Given the description of an element on the screen output the (x, y) to click on. 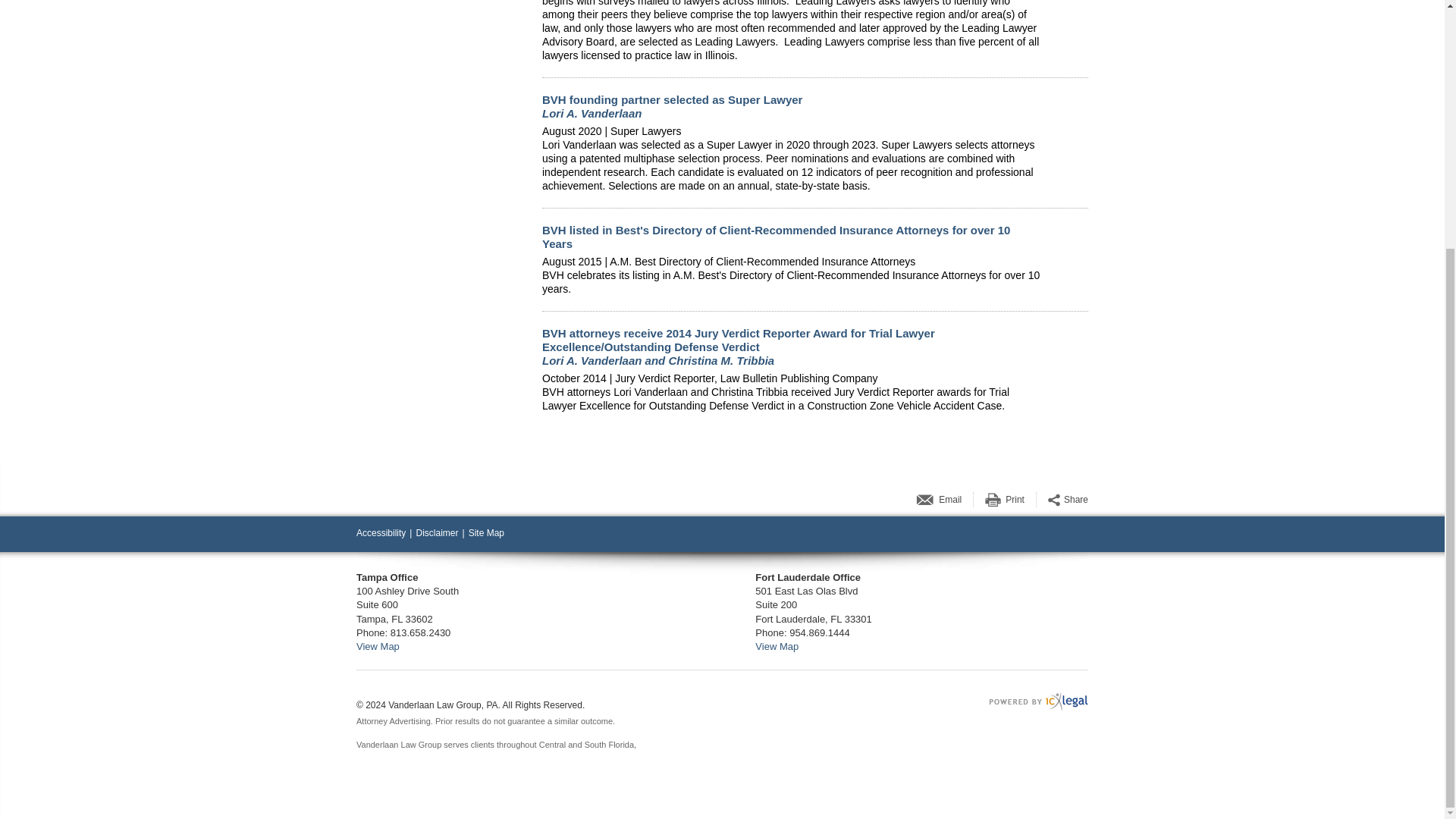
View Map (377, 645)
Disclaimer (436, 532)
View Map (776, 645)
Site Map (485, 532)
Email (949, 499)
Accessibility (381, 532)
Share (1075, 499)
Print (1015, 499)
